Given the description of an element on the screen output the (x, y) to click on. 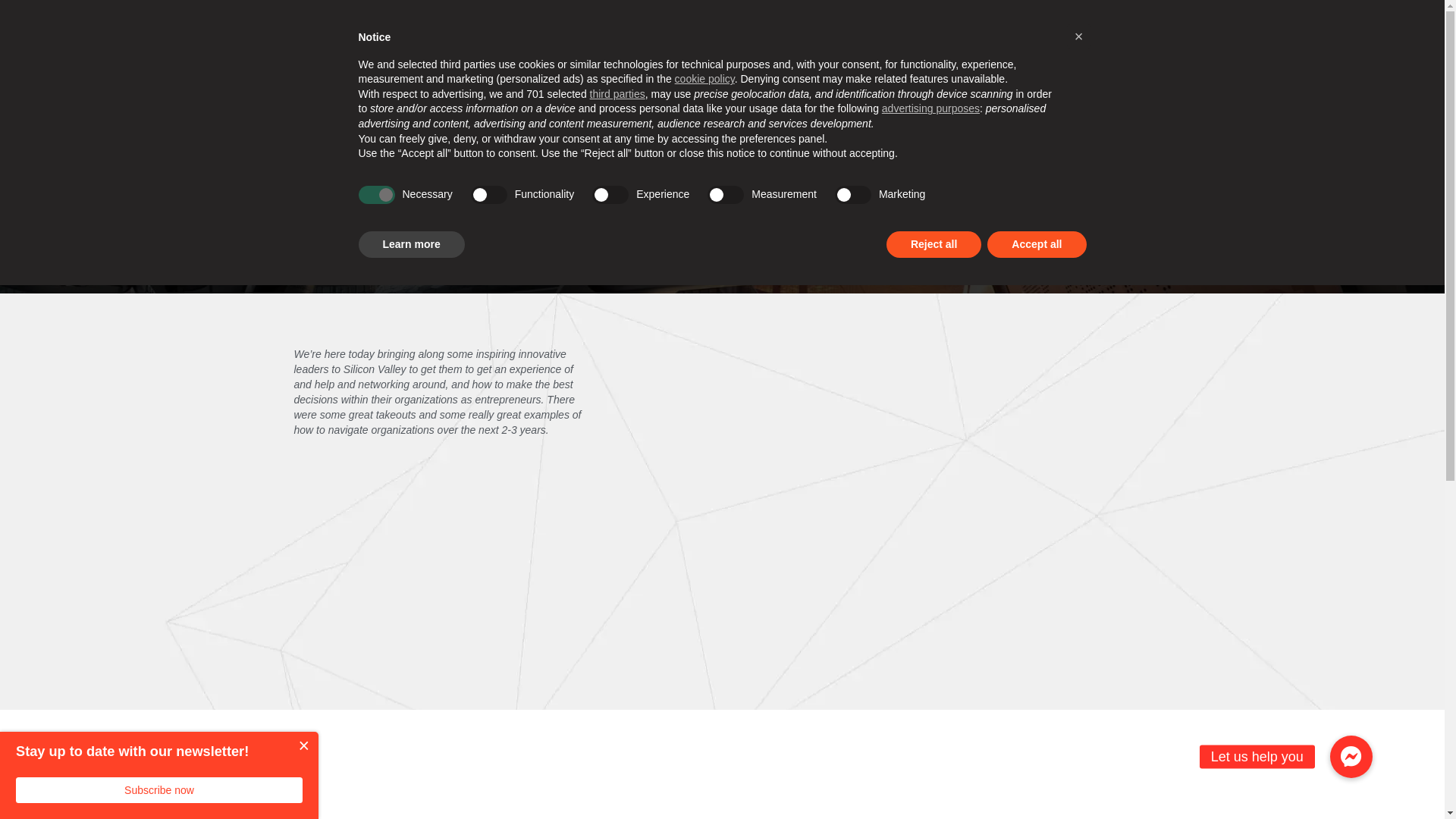
CONTACTS Element type: text (800, 19)
CLIENTS Element type: text (469, 19)
Accept all Element type: text (1036, 244)
TESTIMONIALS Element type: text (689, 19)
BLOG Element type: text (749, 19)
+1-650-228-0607 Element type: text (905, 19)
Learn more Element type: text (410, 244)
TOURS Element type: text (853, 87)
advertising purposes Element type: text (930, 108)
TRAININGS Element type: text (786, 87)
cookie policy Element type: text (704, 78)
third parties Element type: text (617, 93)
Subscribe now Element type: text (158, 790)
ASSIST CHAT Element type: text (1059, 87)
CENTRAL@SVICENTER.COM Element type: text (1034, 19)
RESEARCH Element type: text (710, 87)
SERVICES Element type: text (417, 19)
Let us help you Element type: text (1351, 756)
PARTNERS Element type: text (621, 19)
EXPERTS Element type: text (564, 19)
NETWORK Element type: text (976, 87)
IMMERSION Element type: text (466, 87)
EDUCATION Element type: text (546, 87)
CASES Element type: text (517, 19)
CONSULTING Element type: text (631, 87)
ABOUT Element type: text (365, 19)
EVENTS Element type: text (910, 87)
Reject all Element type: text (933, 244)
